Given the description of an element on the screen output the (x, y) to click on. 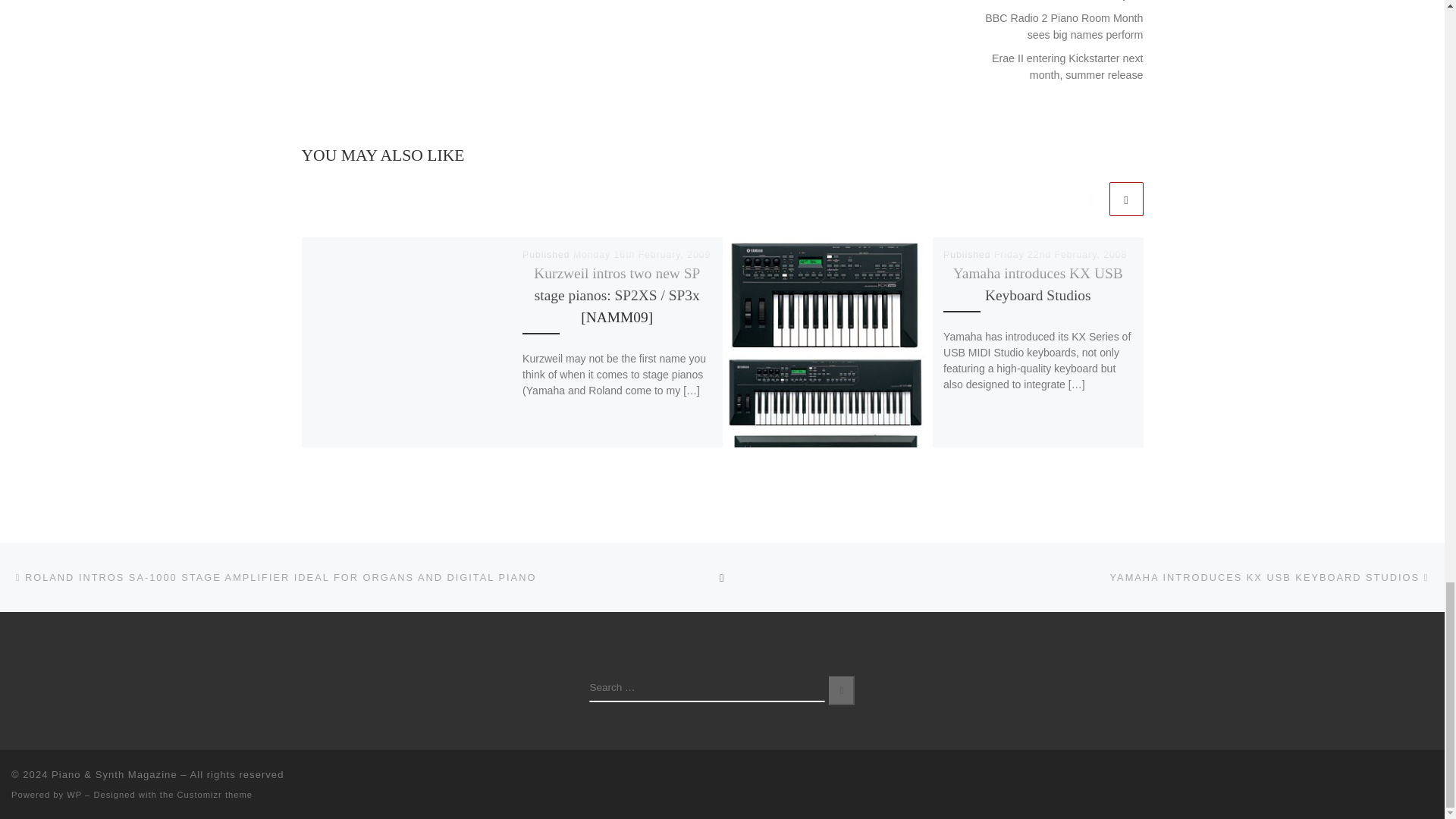
Powered by WordPress (73, 794)
Yamaha introduces KX USB Keyboard Studios (1037, 284)
Friday 22nd February, 2008 (1060, 254)
Previous related articles (1092, 198)
Next related articles (1125, 198)
Monday 16th February, 2009 (641, 254)
